Given the description of an element on the screen output the (x, y) to click on. 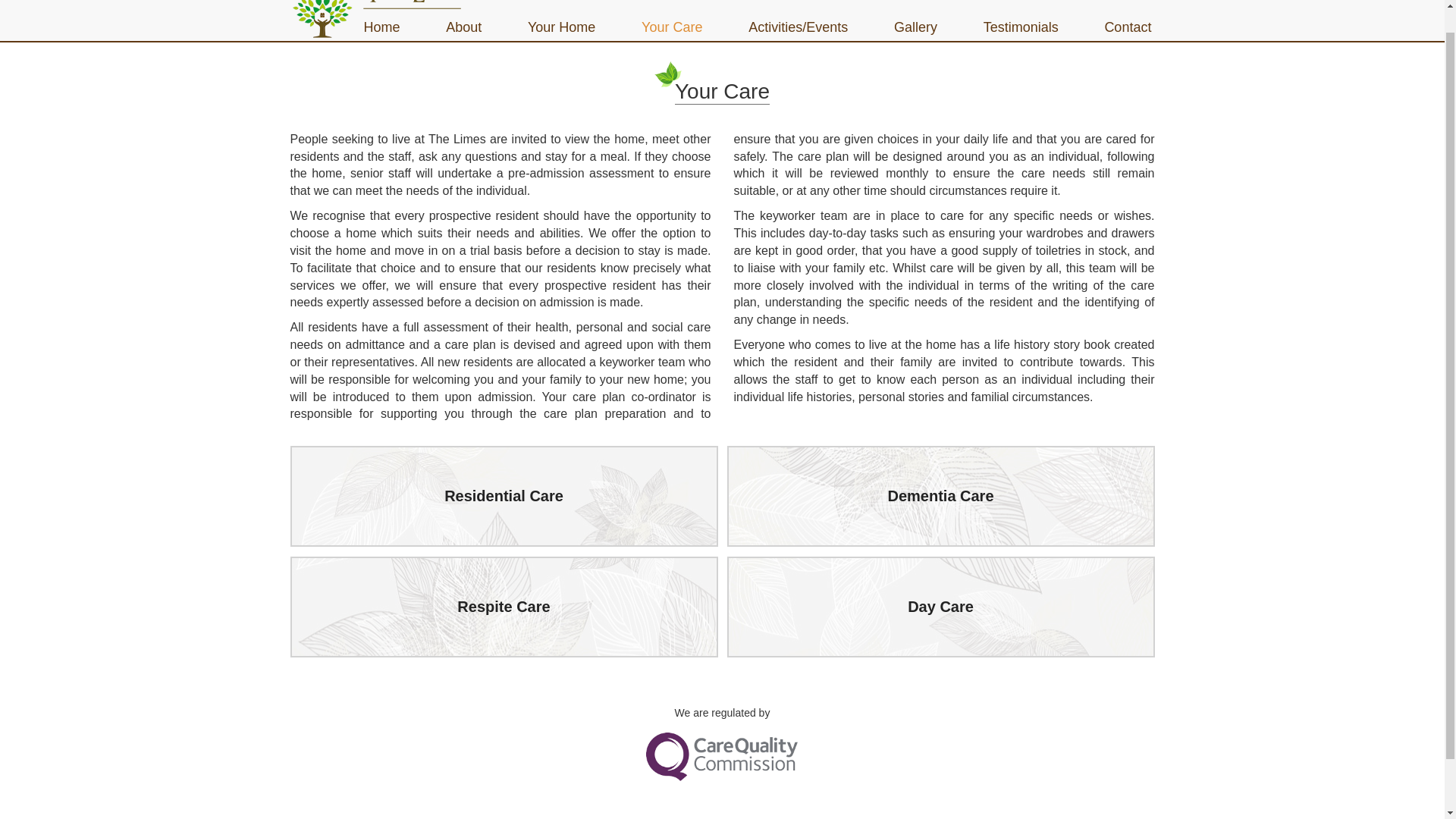
About (463, 26)
Your Care (671, 26)
Home (384, 26)
About (463, 26)
Gallery (915, 26)
Respite Care (503, 606)
Testimonials (1020, 26)
Testimonials (1020, 26)
Care Quality Commission (721, 756)
Gallery (915, 26)
Your Home (560, 26)
Home (384, 26)
Your Care (671, 26)
Your Home (560, 26)
Residential Care (503, 496)
